Given the description of an element on the screen output the (x, y) to click on. 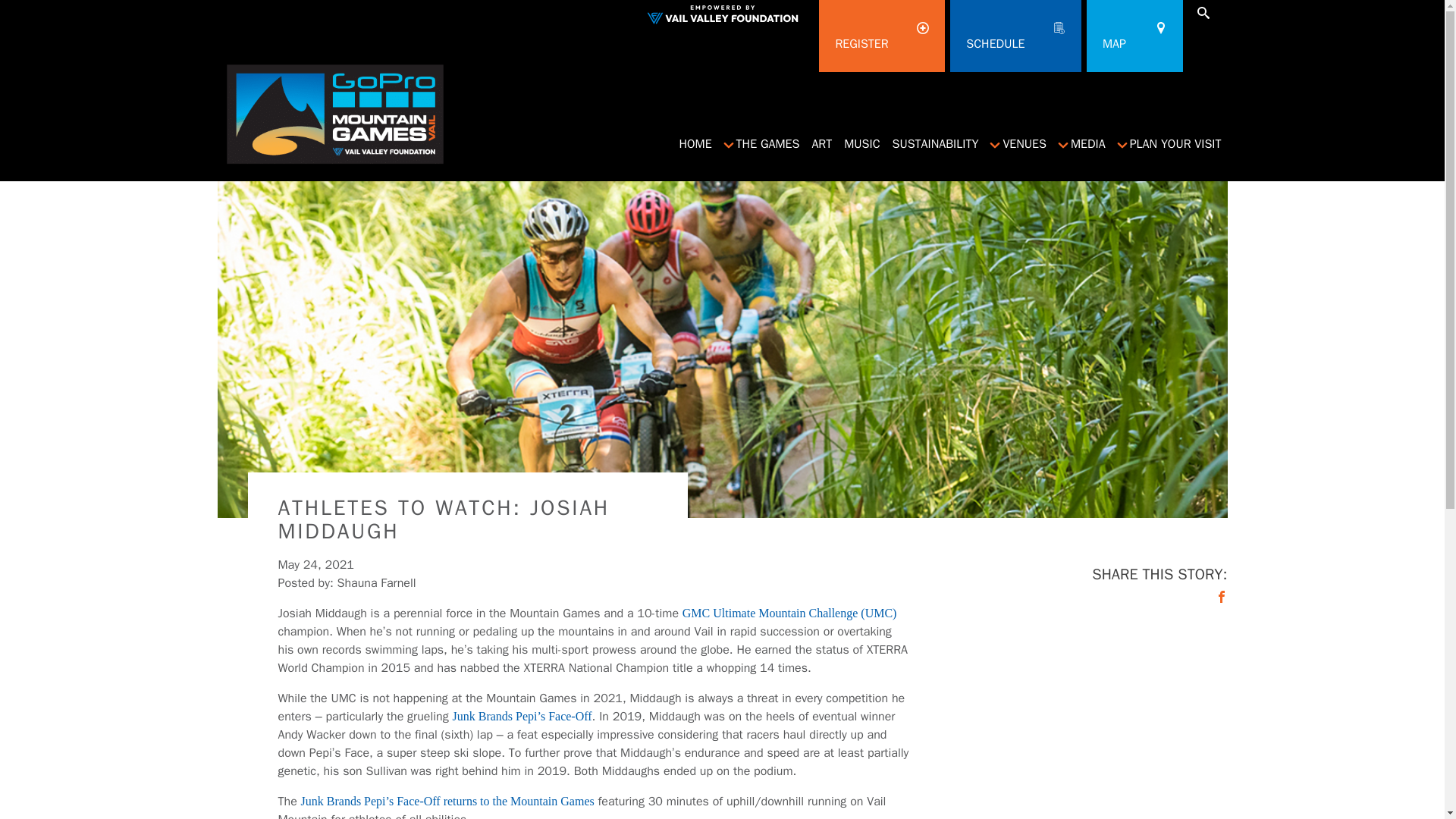
MAP-MARKER (1160, 28)
SCHEDULE (881, 36)
HOME (1058, 28)
PLUS-CIRCLED (694, 143)
THE GAMES (922, 28)
